Given the description of an element on the screen output the (x, y) to click on. 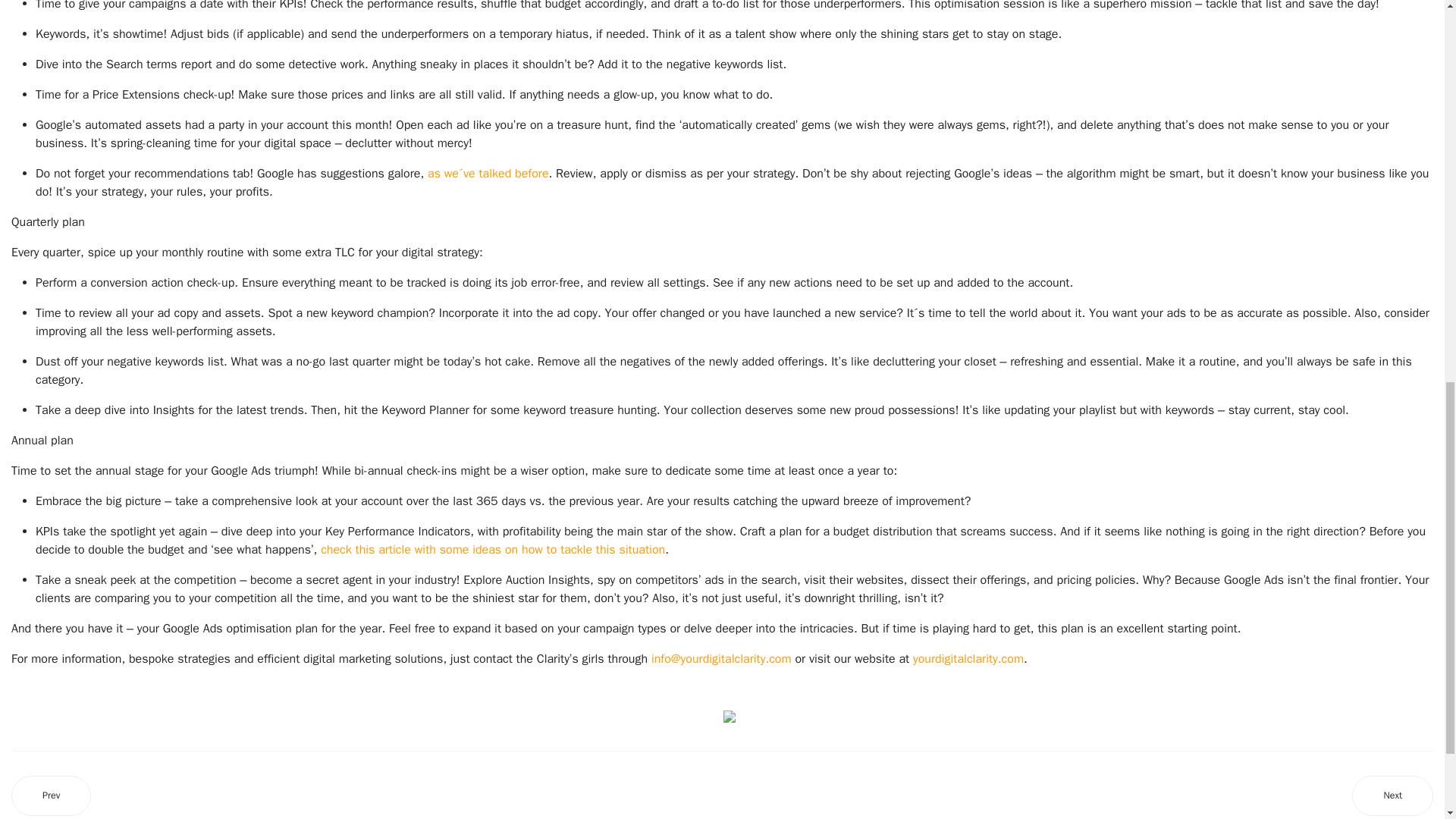
Your Digital Clarity (967, 658)
Nine significant ways to extend your commercial roof life! (50, 795)
